Given the description of an element on the screen output the (x, y) to click on. 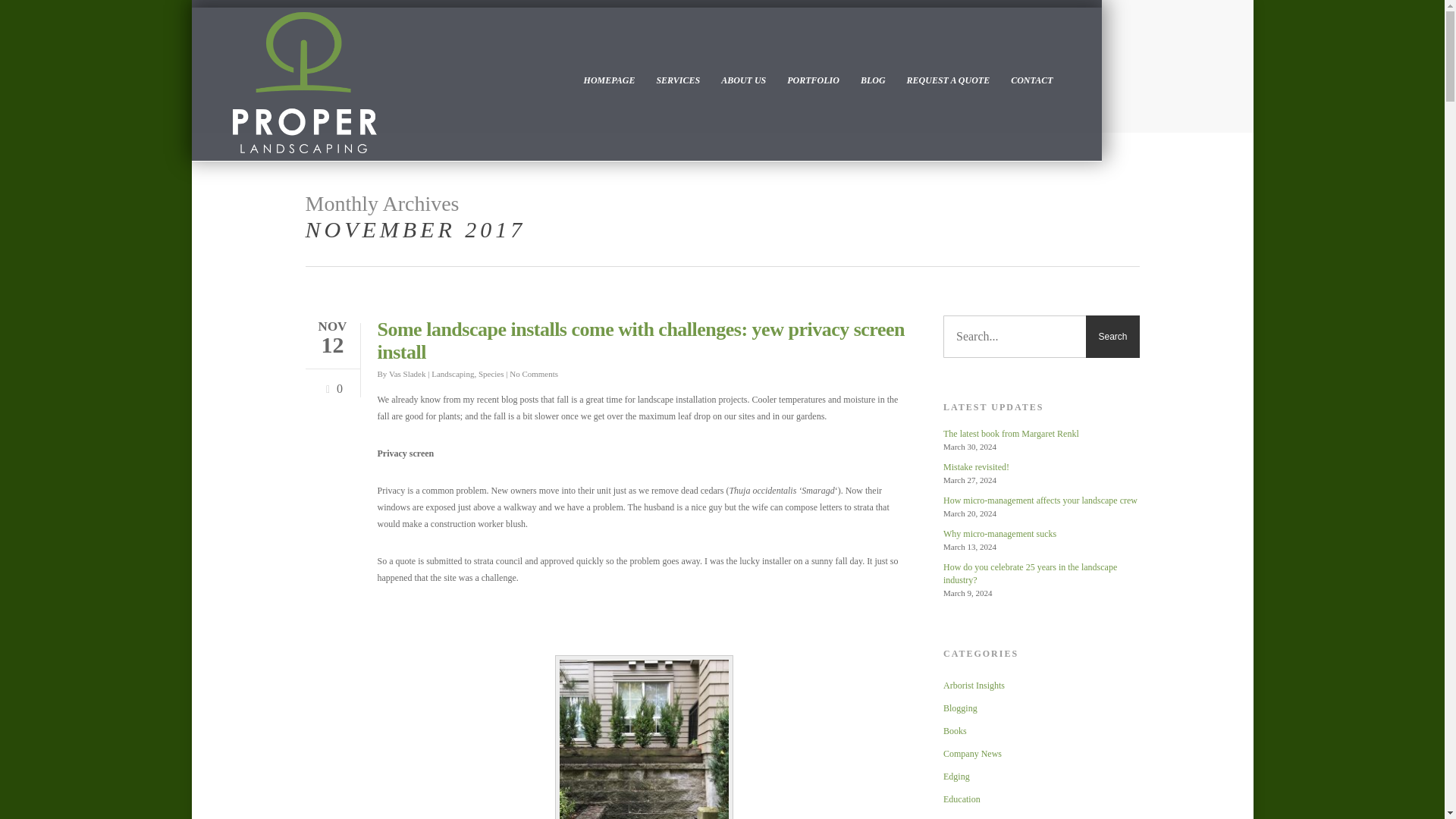
The latest book from Margaret Renkl (1041, 433)
How do you celebrate 25 years in the landscape industry? (1041, 574)
Love this (330, 383)
Species (491, 373)
0 (330, 383)
Search (1112, 336)
Landscaping (452, 373)
Search (1112, 336)
Mistake revisited! (1041, 467)
Posts by Vas Sladek (407, 373)
How micro-management affects your landscape crew (1041, 500)
Vas Sladek (407, 373)
Search for: (1041, 336)
Why micro-management sucks (1041, 533)
